Given the description of an element on the screen output the (x, y) to click on. 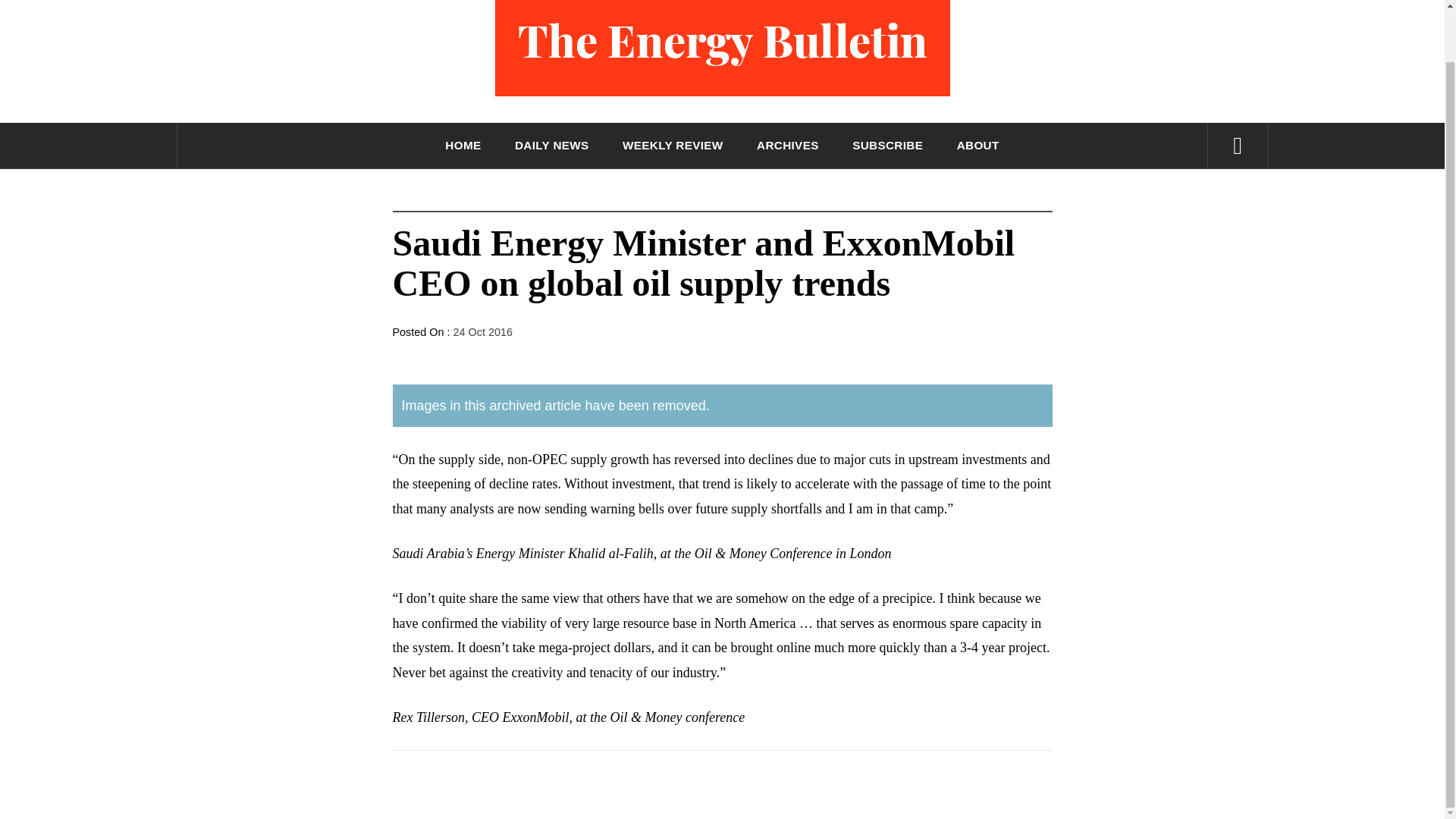
24 Oct 2016 (482, 331)
SUBSCRIBE (887, 145)
Search (797, 2)
ABOUT (978, 145)
HOME (462, 145)
ARCHIVES (788, 145)
THE ENERGY BULLETIN (721, 141)
WEEKLY REVIEW (672, 145)
DAILY NEWS (551, 145)
